Given the description of an element on the screen output the (x, y) to click on. 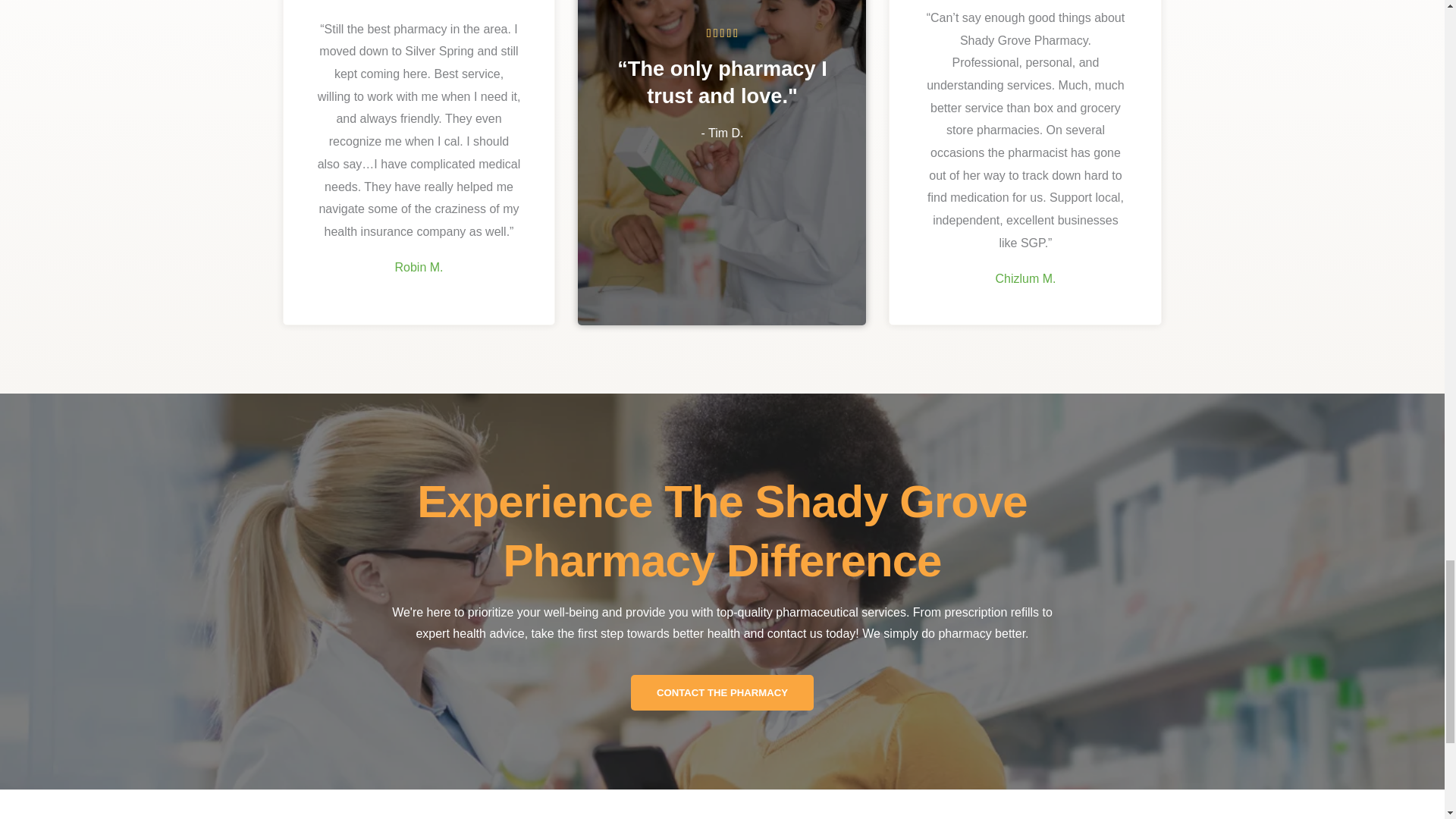
CONTACT THE PHARMACY (721, 692)
